Given the description of an element on the screen output the (x, y) to click on. 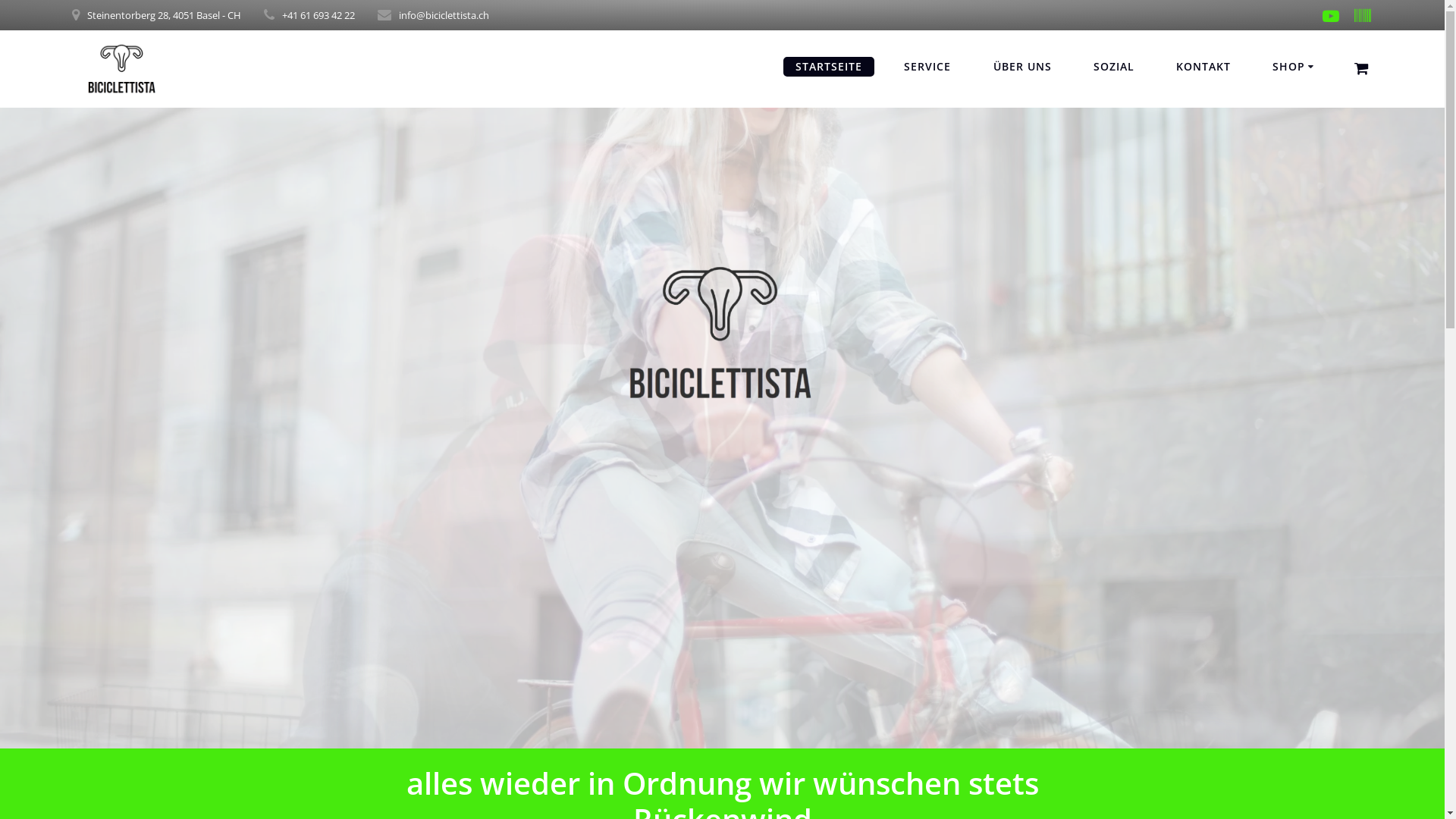
SOZIAL Element type: text (1113, 66)
STARTSEITE Element type: text (828, 66)
SHOP Element type: text (1295, 66)
KONTAKT Element type: text (1203, 66)
SERVICE Element type: text (927, 66)
